Given the description of an element on the screen output the (x, y) to click on. 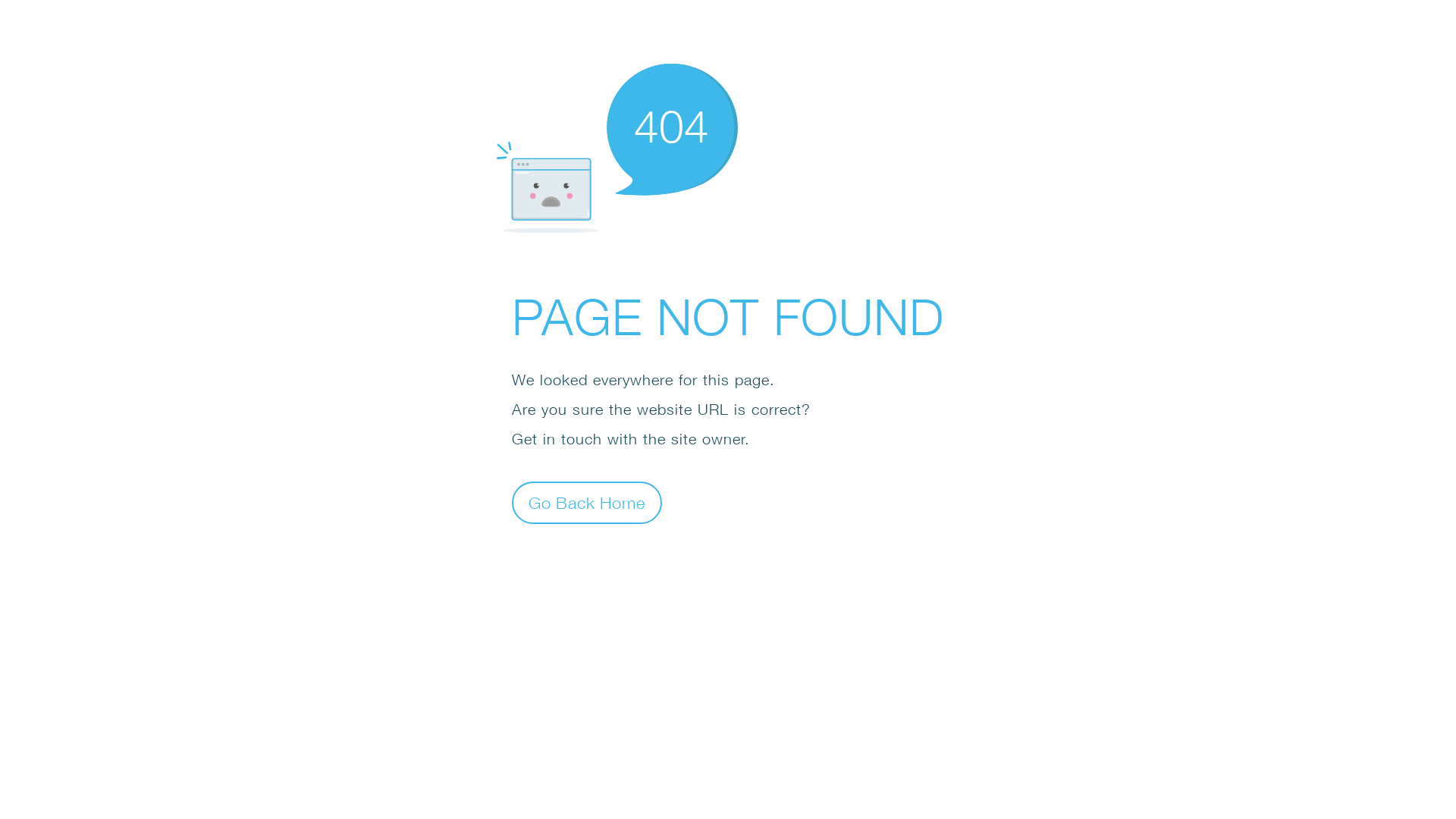
Go Back Home Element type: text (586, 502)
